Given the description of an element on the screen output the (x, y) to click on. 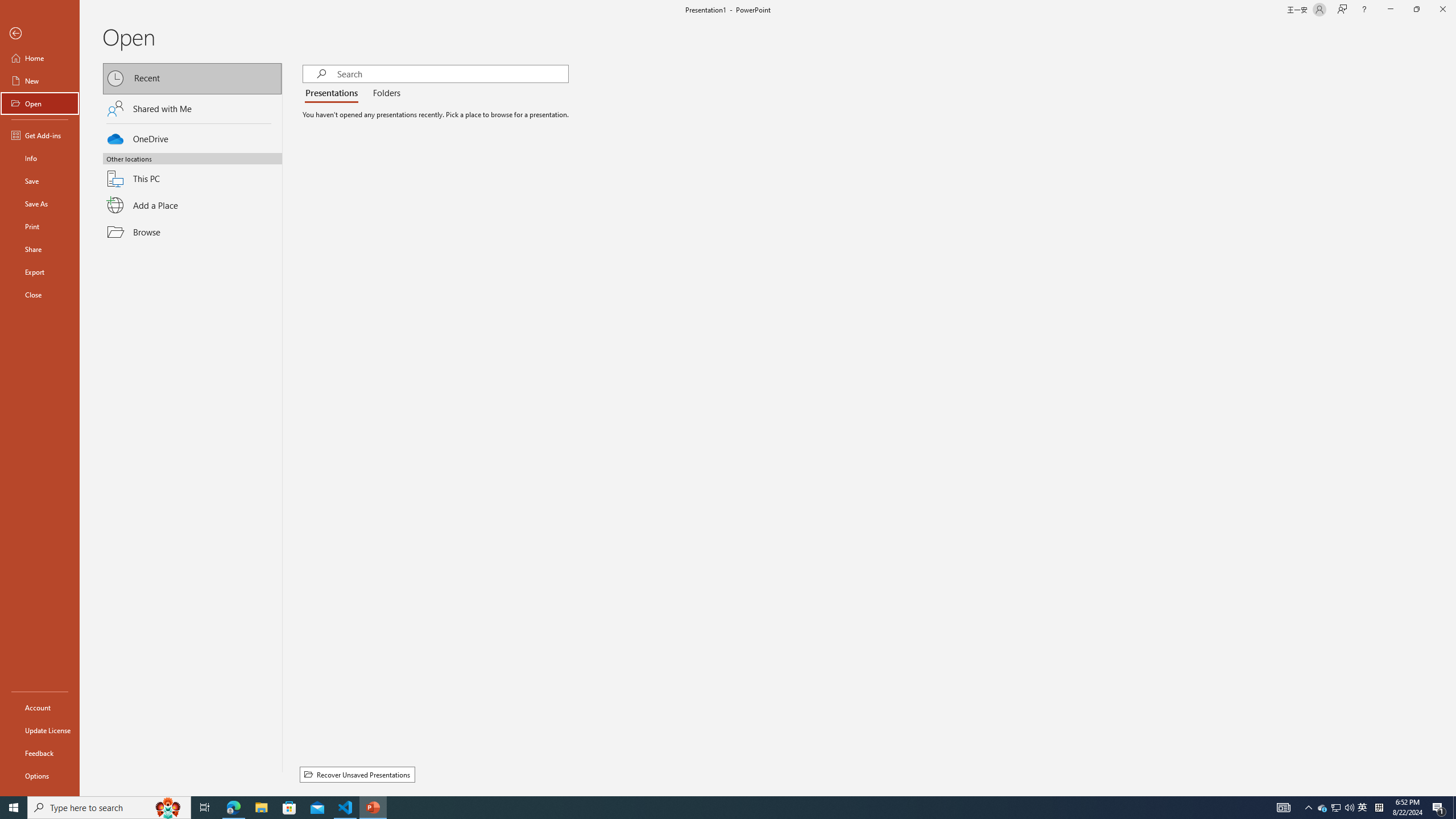
Add a Place (192, 204)
Print (40, 225)
Feedback (40, 753)
Get Add-ins (40, 134)
Info (40, 157)
